Given the description of an element on the screen output the (x, y) to click on. 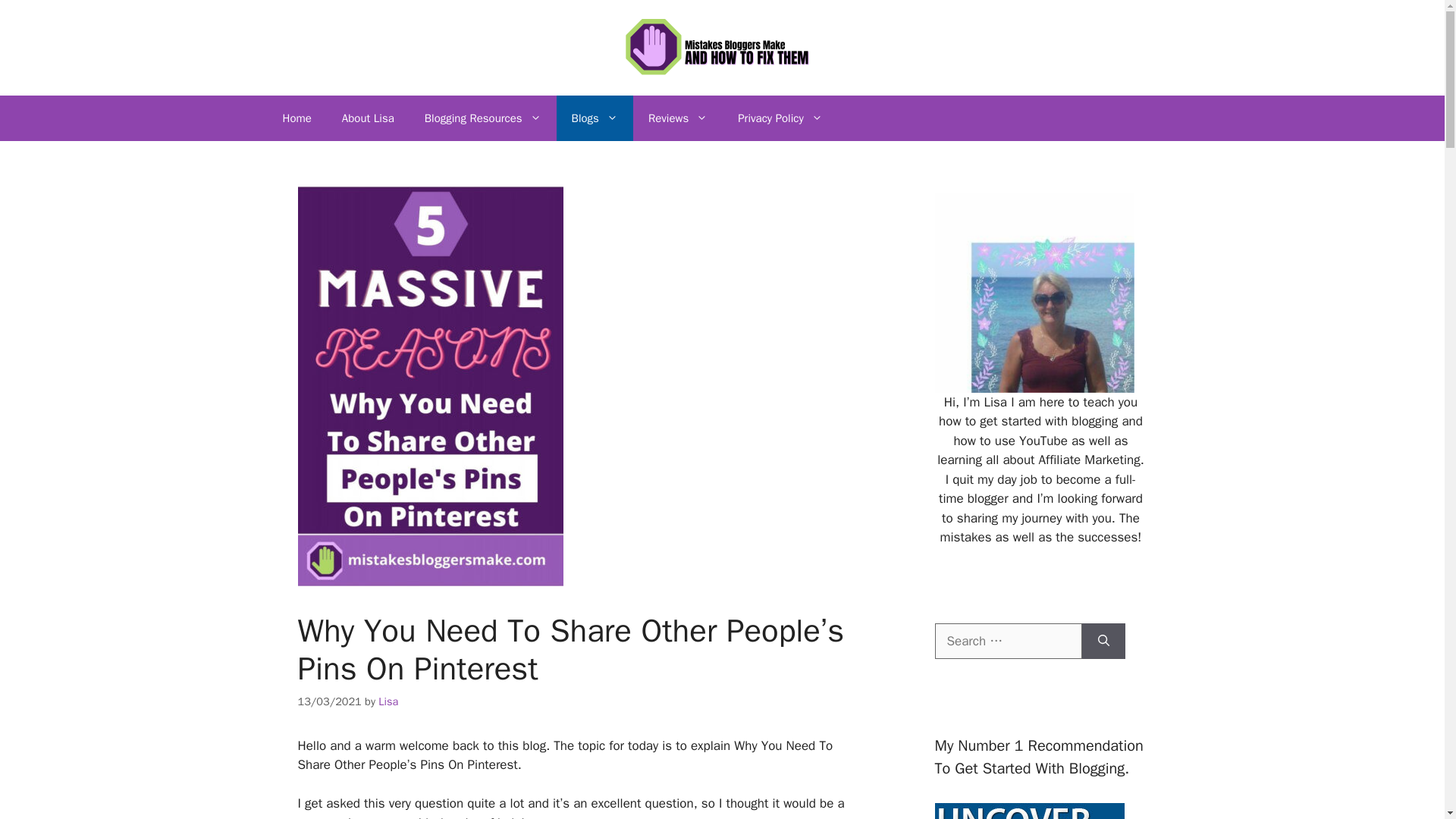
Search for: (1007, 641)
About Lisa (367, 117)
Privacy Policy (780, 117)
Home (296, 117)
Lisa (387, 701)
Blogging Resources (482, 117)
View all posts by Lisa (387, 701)
Reviews (677, 117)
Blogs (594, 117)
